Given the description of an element on the screen output the (x, y) to click on. 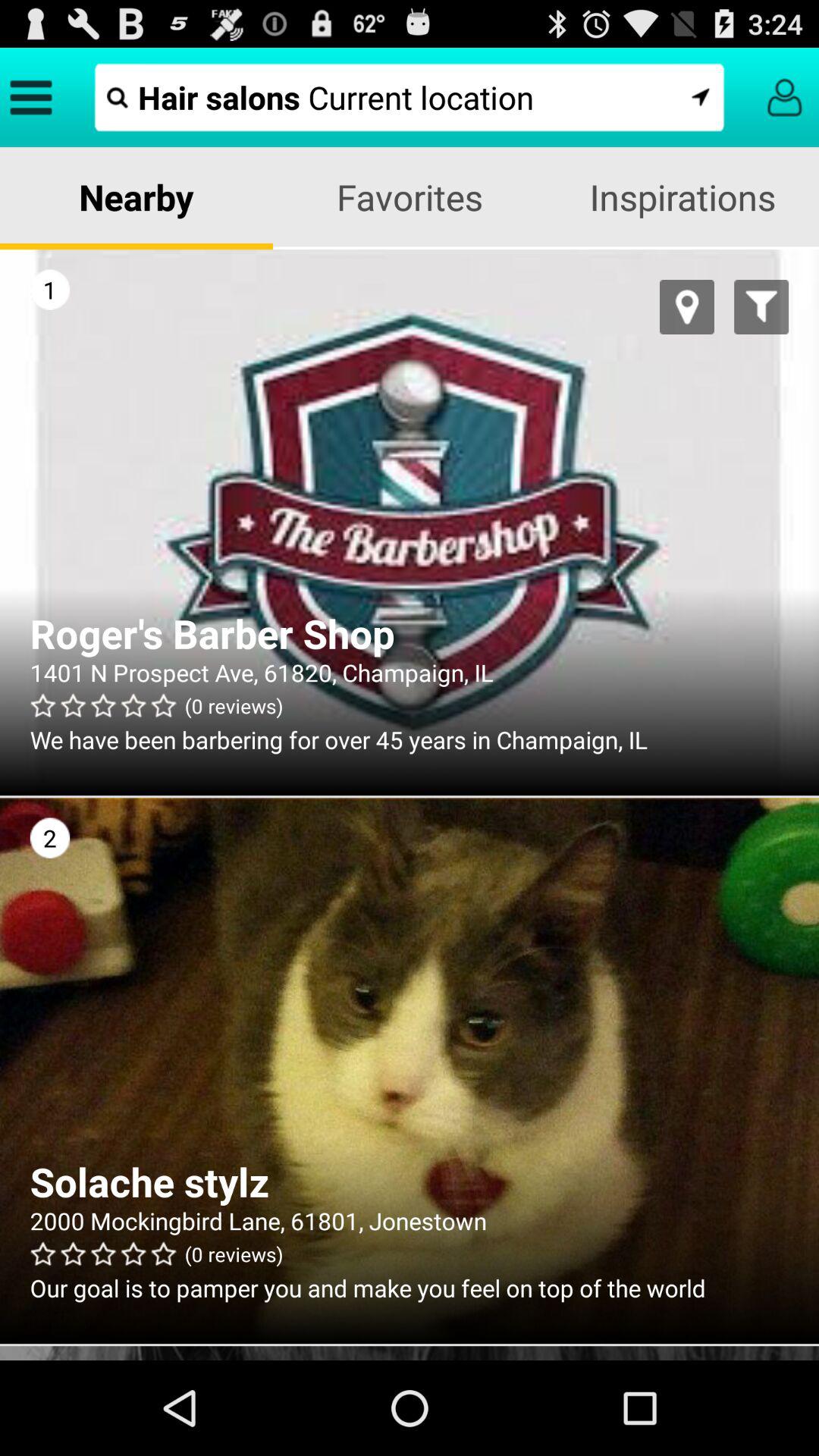
scroll to inspirations app (682, 196)
